Given the description of an element on the screen output the (x, y) to click on. 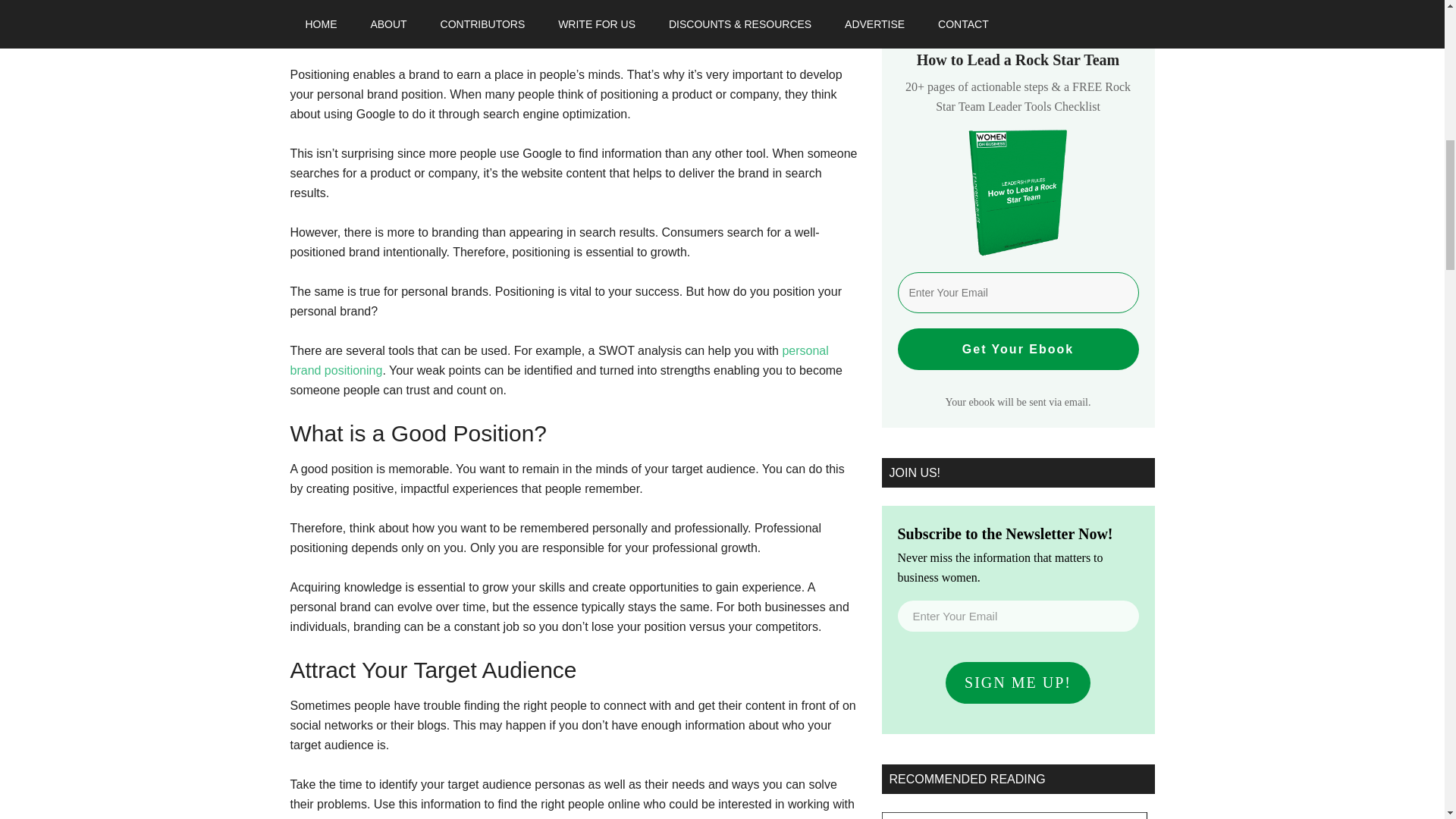
personal brand positioning (558, 359)
Get Your Ebook (1018, 349)
SIGN ME UP! (1017, 682)
